Given the description of an element on the screen output the (x, y) to click on. 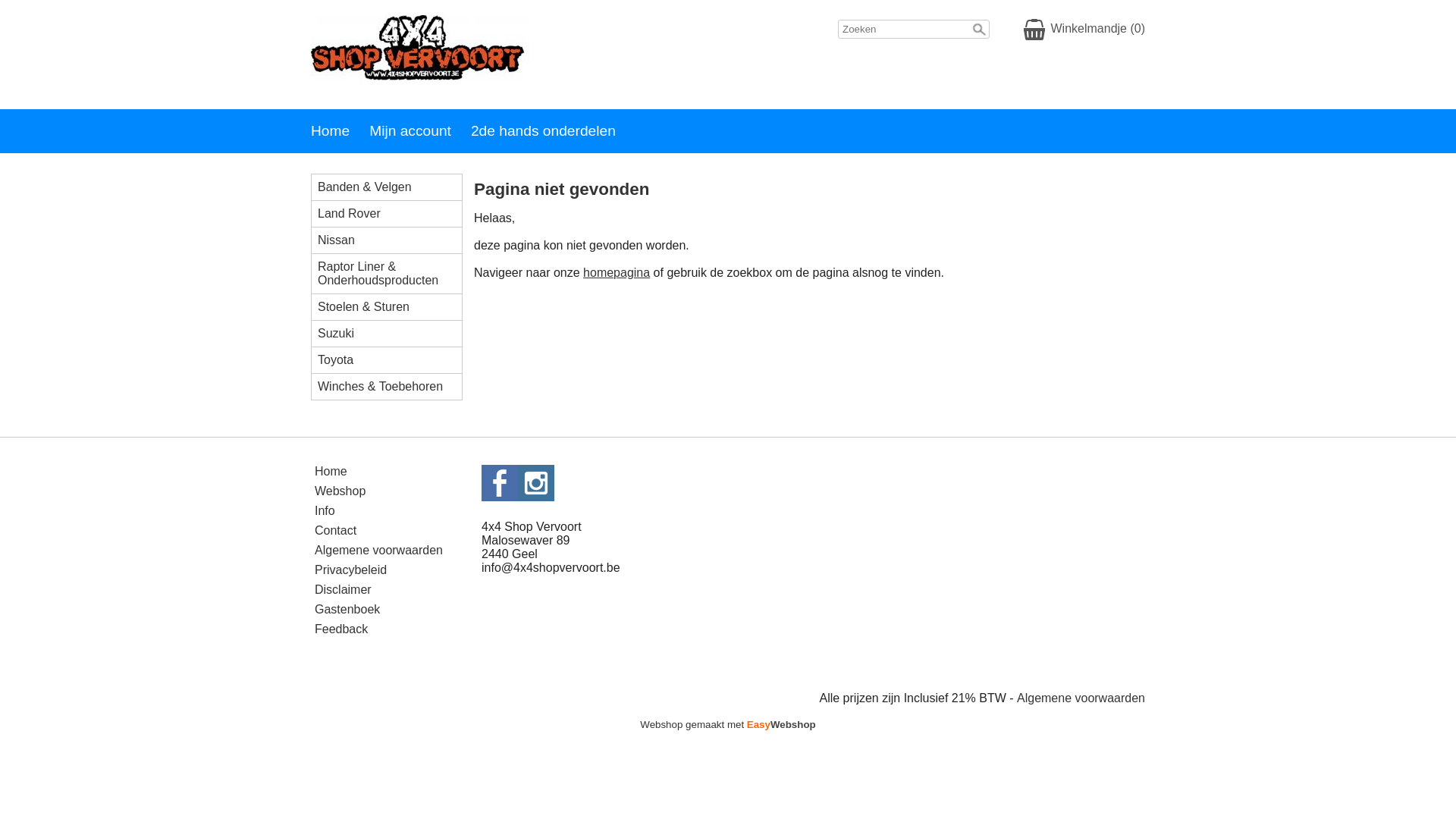
Banden & Velgen Element type: text (392, 187)
Mijn account Element type: text (419, 131)
Feedback Element type: text (340, 630)
2de hands onderdelen Element type: text (552, 131)
Toyota Element type: text (392, 360)
Home Element type: text (339, 131)
Contact Element type: text (335, 531)
Algemene voorwaarden Element type: text (1080, 699)
Nissan Element type: text (392, 240)
WinkelmandjeWinkelmandje (0) Element type: text (1084, 29)
homepagina Element type: text (616, 272)
Stoelen & Sturen Element type: text (392, 307)
Webshop Element type: text (339, 492)
Gastenboek Element type: text (346, 610)
Raptor Liner & Onderhoudsproducten Element type: text (392, 273)
Winches & Toebehoren Element type: text (392, 386)
Land Rover Element type: text (392, 213)
Privacybeleid Element type: text (350, 570)
Suzuki Element type: text (392, 333)
Info Element type: text (324, 511)
Disclaimer Element type: text (342, 590)
Home Element type: text (330, 472)
Webshop gemaakt met EasyWebshop Element type: text (727, 726)
Algemene voorwaarden Element type: text (378, 551)
